Given the description of an element on the screen output the (x, y) to click on. 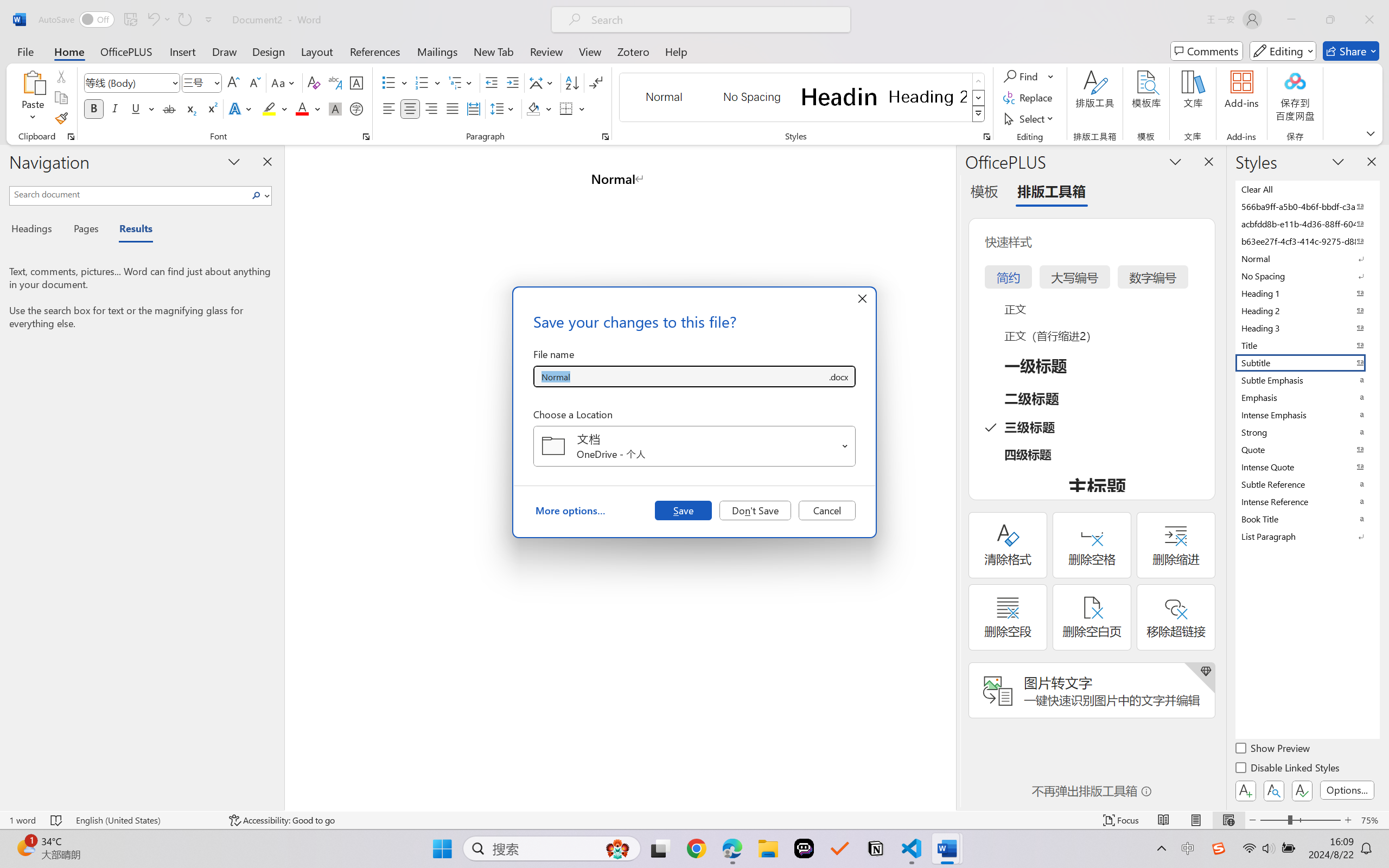
Cut (60, 75)
Search (259, 195)
Clear All (1306, 188)
Headings (35, 229)
Underline (135, 108)
Zoom (1300, 819)
Disable Linked Styles (1287, 769)
Search (256, 195)
Line and Paragraph Spacing (503, 108)
Don't Save (755, 509)
Shrink Font (253, 82)
Focus  (1121, 819)
